Given the description of an element on the screen output the (x, y) to click on. 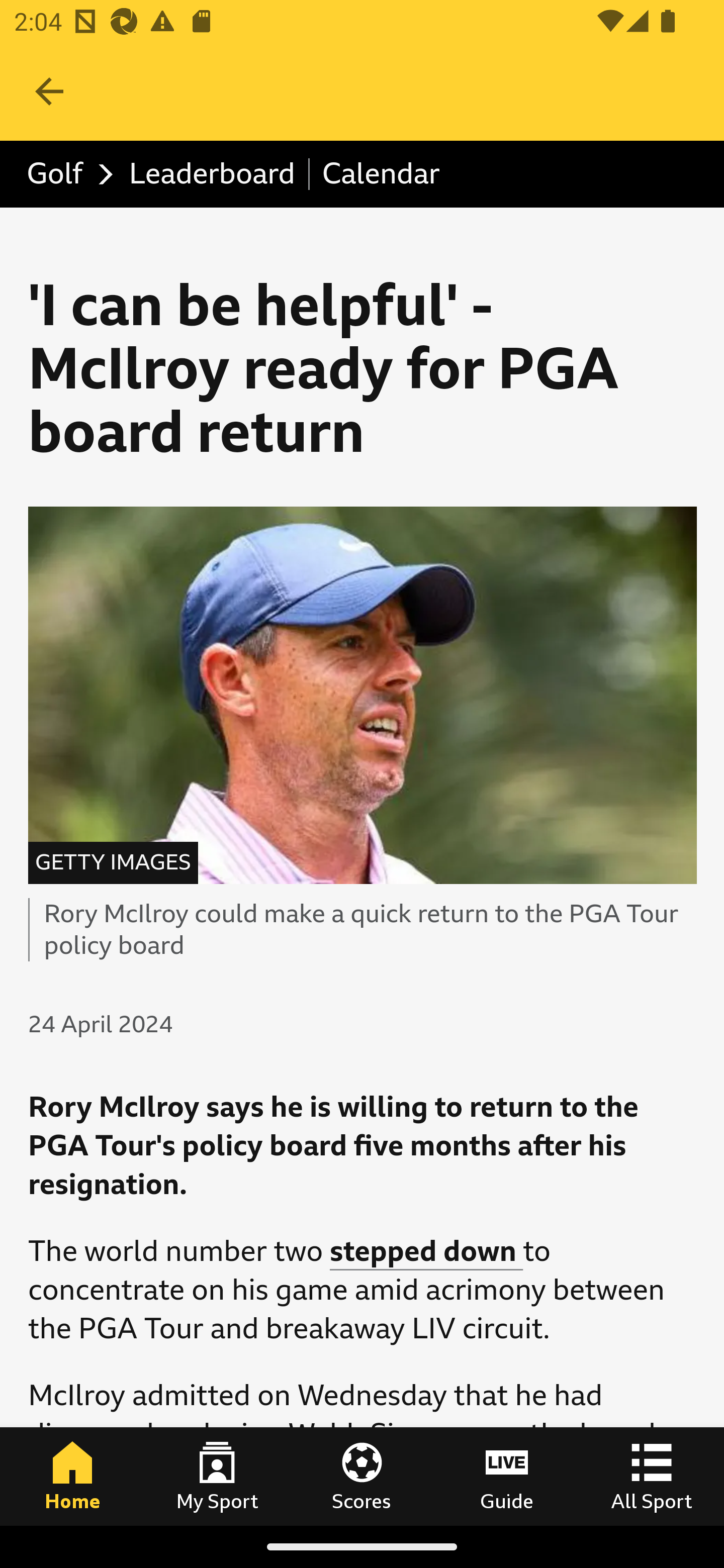
Navigate up (49, 91)
Golf (65, 173)
Leaderboard (213, 173)
Calendar (380, 173)
stepped down  (426, 1251)
My Sport (216, 1475)
Scores (361, 1475)
Guide (506, 1475)
All Sport (651, 1475)
